Given the description of an element on the screen output the (x, y) to click on. 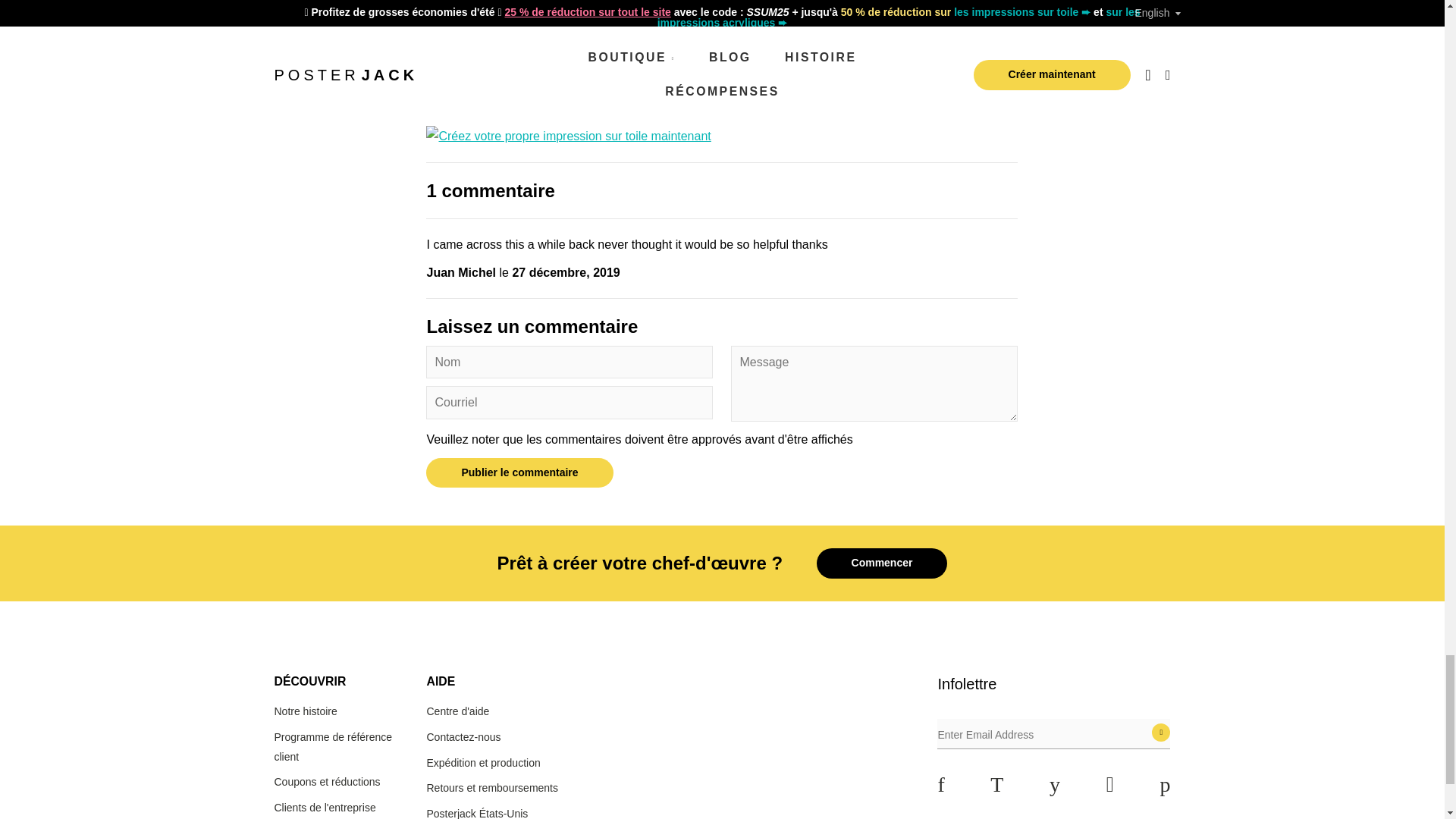
Posterjack Tableaux sur toile (683, 42)
Posterjack Tableaux sur toile (568, 135)
Publier le commentaire (519, 472)
